Given the description of an element on the screen output the (x, y) to click on. 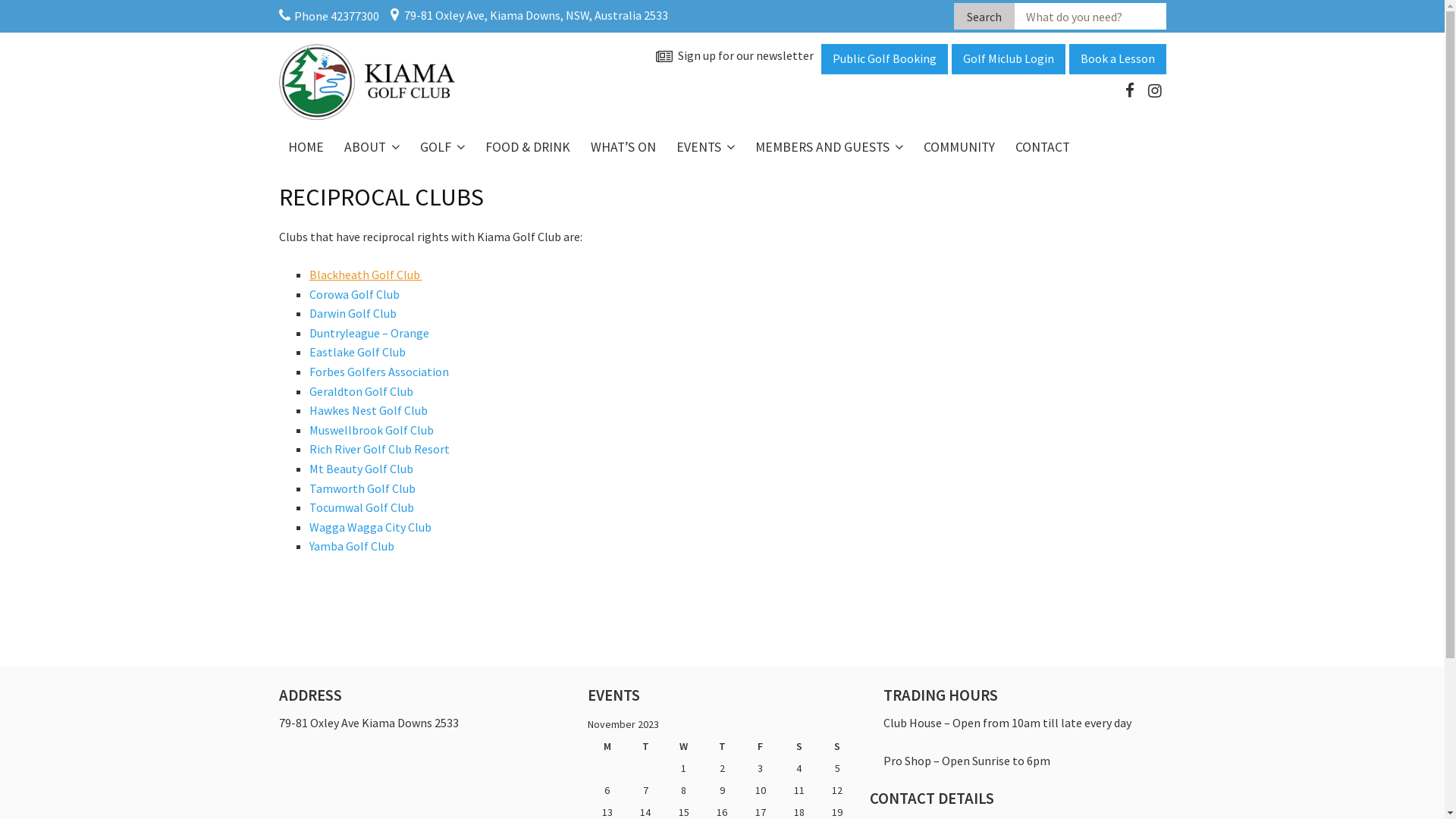
Blackheath Golf Club  Element type: text (365, 274)
EVENTS Element type: text (705, 147)
Follow us on Instagram Element type: hover (1154, 92)
CONTACT Element type: text (1041, 147)
Submit Feedback Element type: text (792, 439)
Search Element type: text (983, 16)
Geraldton Golf Club  Element type: text (362, 390)
MEMBERS AND GUESTS Element type: text (829, 147)
Eastlake Golf Club  Element type: text (358, 351)
Yamba Golf Club  Element type: text (352, 545)
Like us on Facebook Element type: hover (1128, 92)
Back to Kiama Golf Club homepage Element type: hover (367, 79)
Phone 42377300 Element type: text (329, 15)
COURSE INFORMATION & PRICING Element type: text (485, 189)
Public Golf Booking Element type: text (883, 58)
Book a Lesson Element type: text (1117, 58)
Tocumwal Golf Club Element type: text (361, 506)
Darwin Golf Club Element type: text (352, 312)
Muswellbrook Golf Club Element type: text (371, 429)
COMMUNITY Element type: text (959, 147)
ABOUT Element type: text (371, 147)
Search for: Element type: hover (1090, 16)
FOOD & DRINK Element type: text (527, 147)
Mt Beauty Golf Club  Element type: text (362, 468)
Forbes Golfers Association Element type: text (378, 371)
Golf Miclub Login Element type: text (1007, 58)
NEWSLETTERS Element type: text (409, 178)
HOME Element type: text (305, 147)
Corowa Golf Club Element type: text (354, 293)
MEMBERSHIP Element type: text (820, 178)
GOLF Element type: text (442, 147)
Rich River Golf Club Resort Element type: text (379, 448)
Hawkes Nest Golf Club Element type: text (368, 409)
Wagga Wagga City Club Element type: text (370, 526)
CELEBRATIONS Element type: text (741, 178)
Duntryleague  Element type: text (345, 332)
Tamworth Golf Club Element type: text (362, 487)
